Given the description of an element on the screen output the (x, y) to click on. 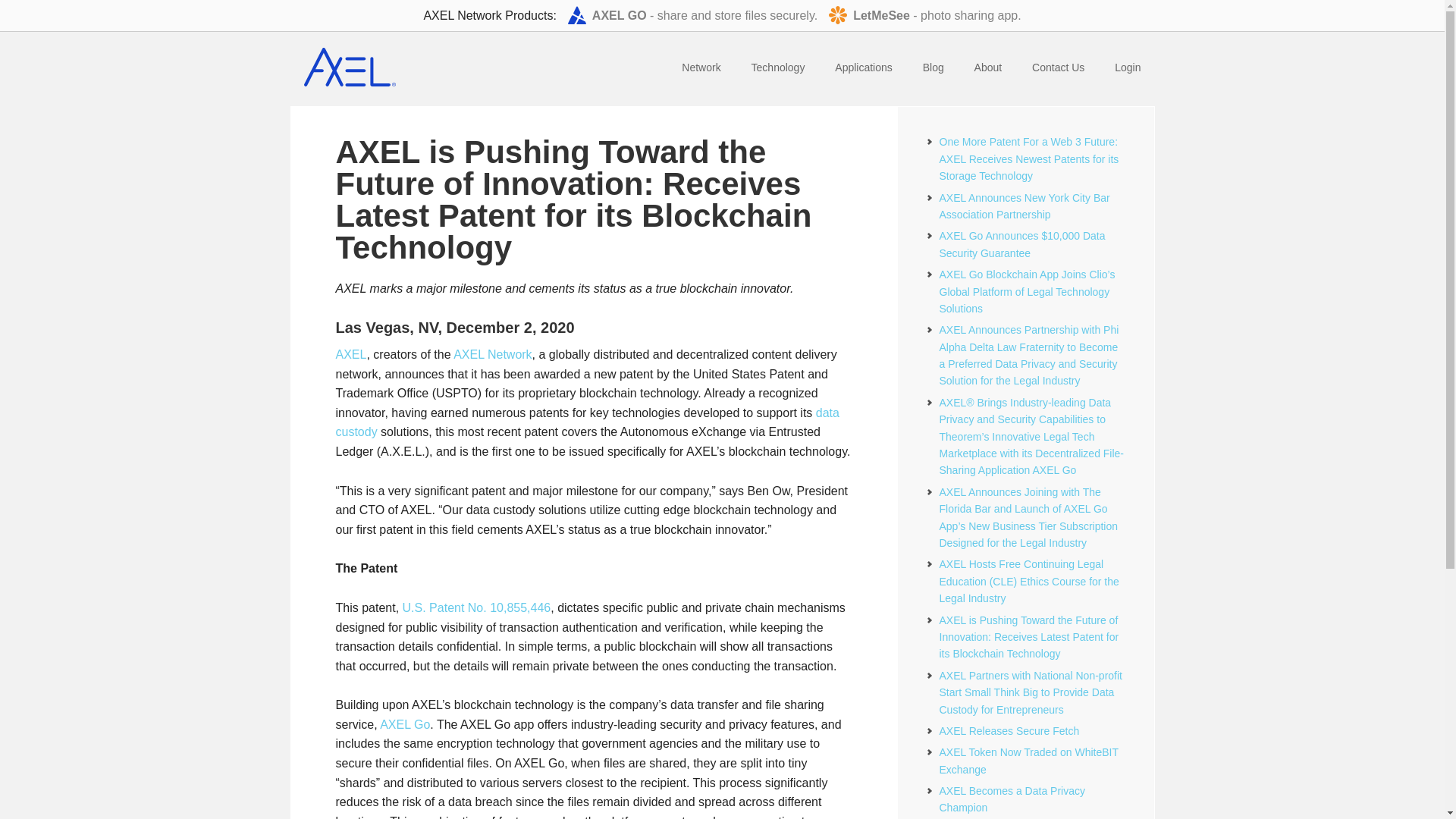
AXEL Becomes a Data Privacy Champion (1011, 799)
AXEL Token Now Traded on WhiteBIT Exchange (1028, 760)
Applications (863, 68)
LetMeSee - photo sharing app. (924, 15)
AXEL (350, 354)
AXEL Network (491, 354)
AXEL Releases Secure Fetch (1008, 730)
AXEL GO - share and store files securely. (691, 15)
